Given the description of an element on the screen output the (x, y) to click on. 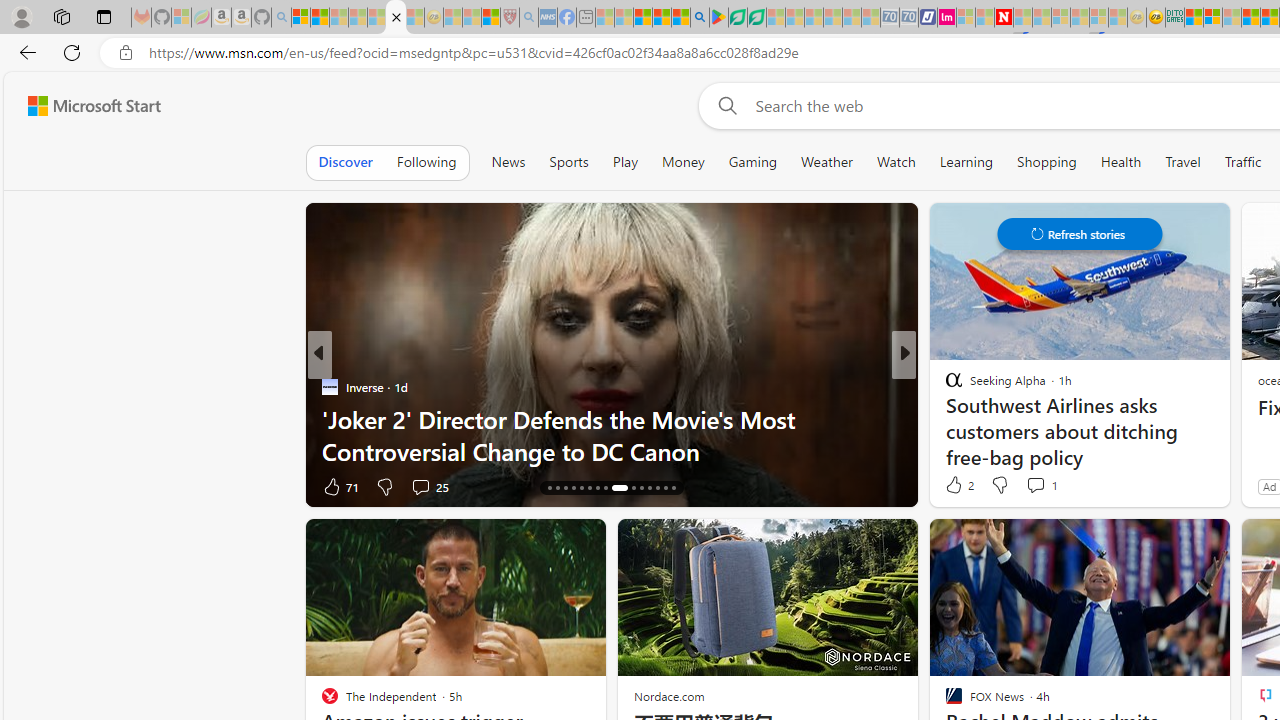
AutomationID: tab-27 (649, 487)
AutomationID: tab-30 (673, 487)
Cheap Hotels - Save70.com - Sleeping (908, 17)
Expert Portfolios (1250, 17)
Money (682, 162)
DITOGAMES AG Imprint (1174, 17)
Terms of Use Agreement (737, 17)
Cheap Car Rentals - Save70.com - Sleeping (889, 17)
Health (1121, 162)
News (507, 162)
AutomationID: tab-21 (588, 487)
Microsoft Start - Sleeping (984, 17)
The Weather Channel - MSN - Sleeping (339, 17)
